Given the description of an element on the screen output the (x, y) to click on. 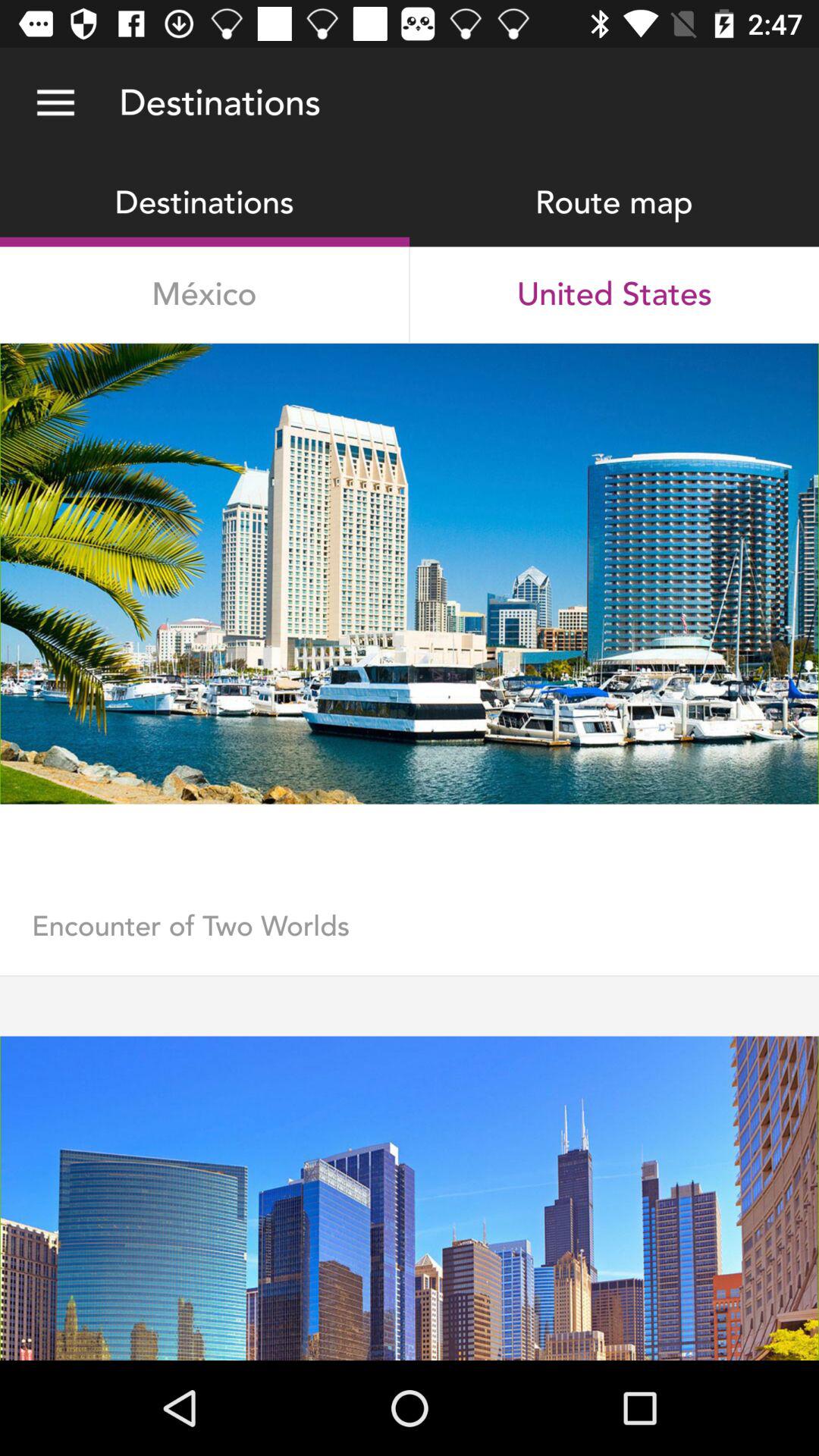
jump until united states (614, 294)
